Given the description of an element on the screen output the (x, y) to click on. 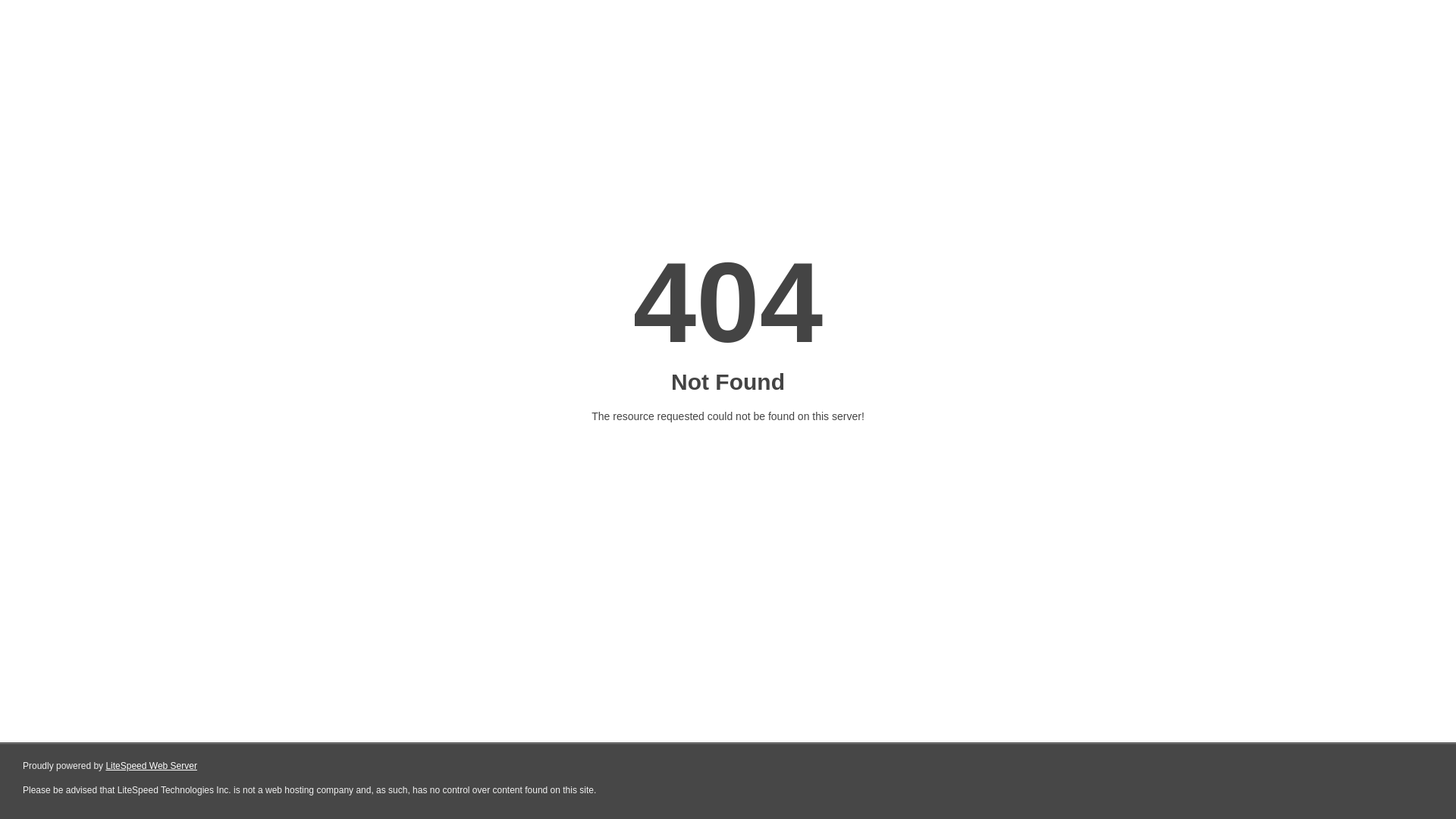
LiteSpeed Web Server Element type: text (151, 765)
